Given the description of an element on the screen output the (x, y) to click on. 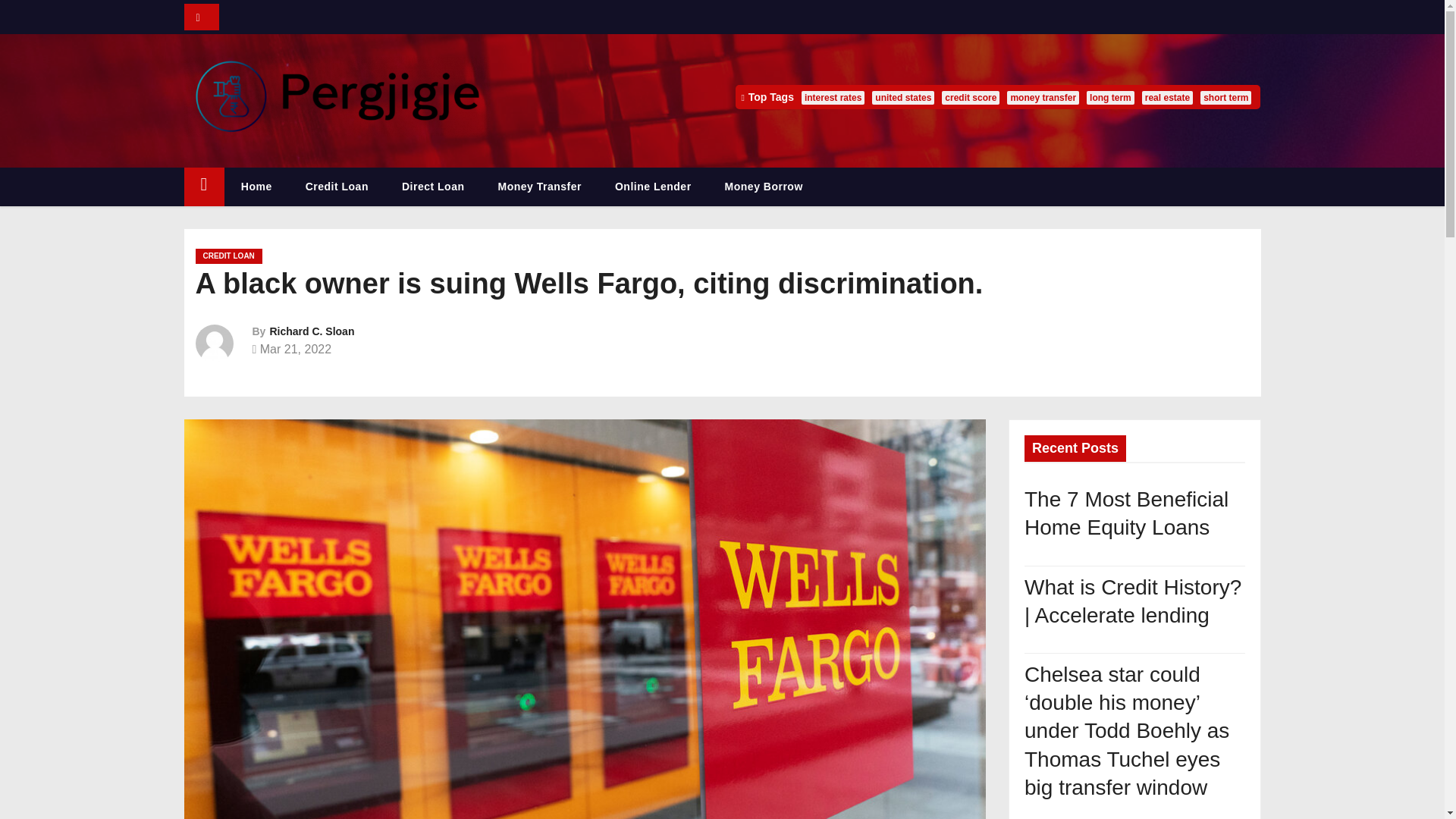
Online lender (652, 186)
short term (1224, 97)
Direct loan (433, 186)
long term (1110, 97)
Online Lender (652, 186)
Money transfer (538, 186)
interest rates (833, 97)
credit score (970, 97)
Direct Loan (433, 186)
Home (256, 186)
